Given the description of an element on the screen output the (x, y) to click on. 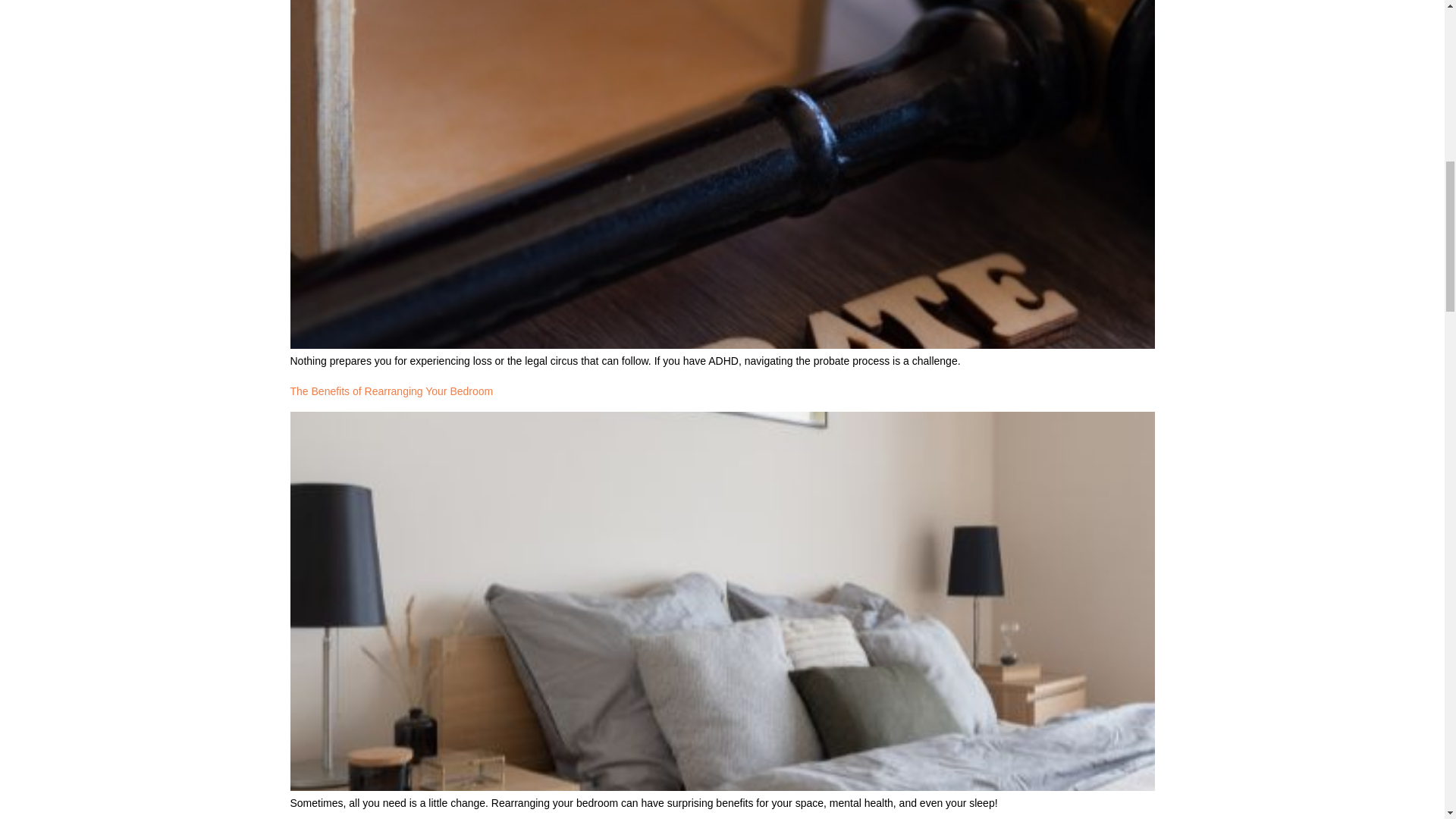
The Benefits of Rearranging Your Bedroom (391, 390)
